Given the description of an element on the screen output the (x, y) to click on. 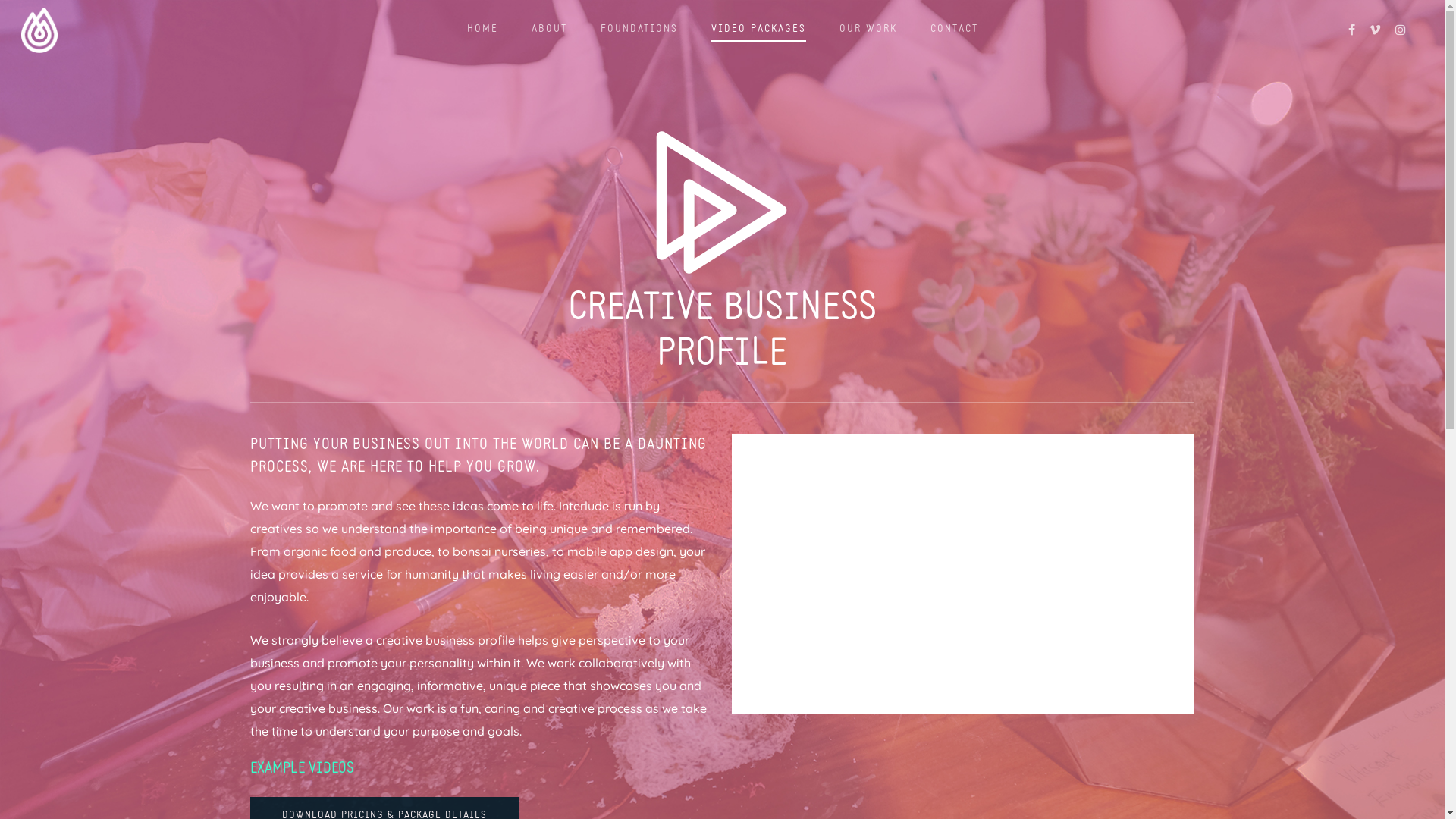
ABOUT Element type: text (548, 33)
CONTACT Element type: text (953, 33)
VIDEO PACKAGES Element type: text (758, 33)
OUR WORK Element type: text (867, 33)
Interlude - Profiles Showreel Element type: hover (962, 567)
HOME Element type: text (482, 33)
FOUNDATIONS Element type: text (638, 33)
EXAMPLE VIDEOS Element type: text (302, 768)
